Given the description of an element on the screen output the (x, y) to click on. 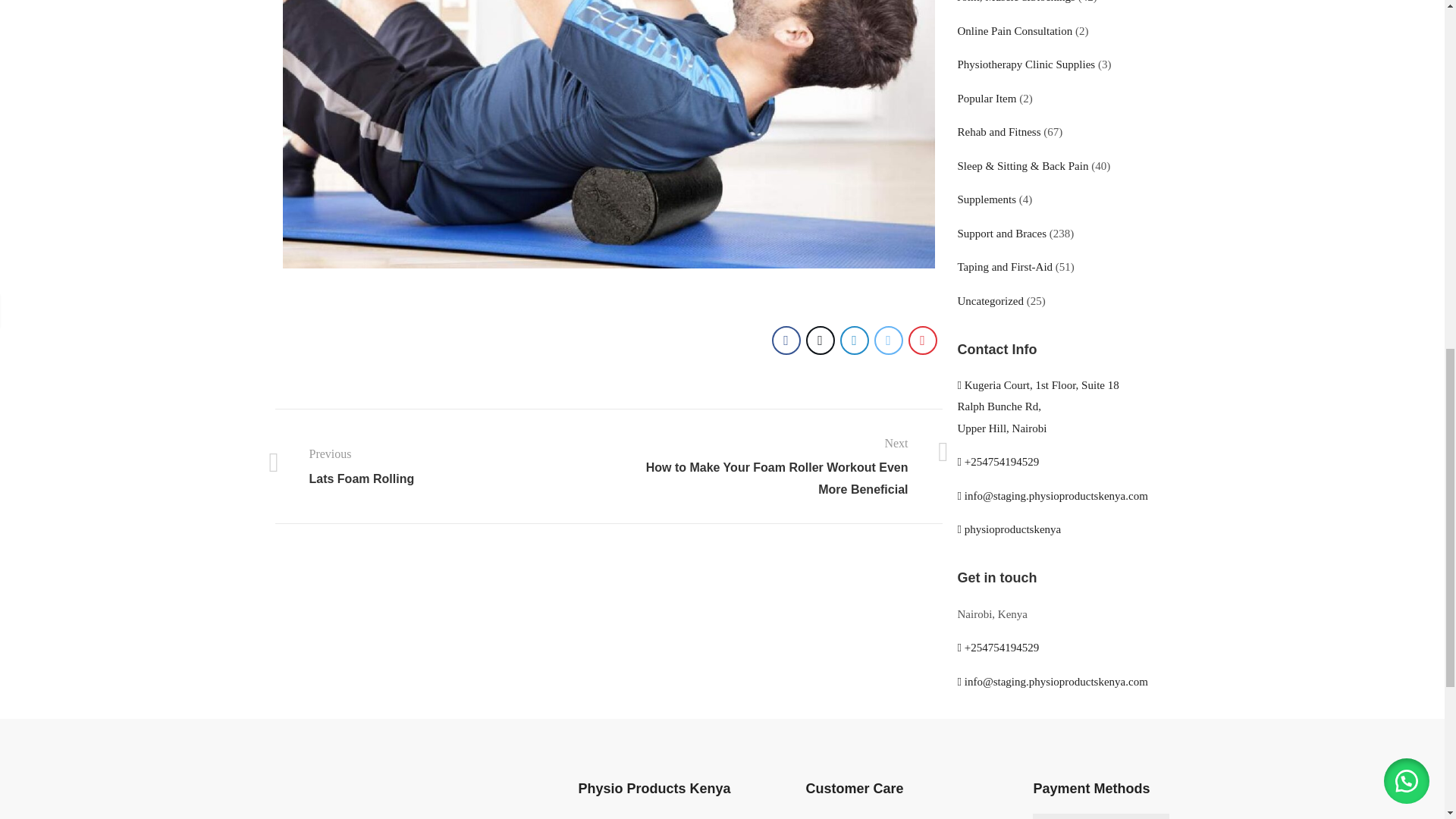
Mail Us (1051, 495)
Mail Us (1051, 681)
Our Address (1037, 406)
How To Pay (1100, 816)
Contact Us (832, 818)
Call Us (997, 647)
Live chat (1008, 529)
Call Us (997, 461)
